Given the description of an element on the screen output the (x, y) to click on. 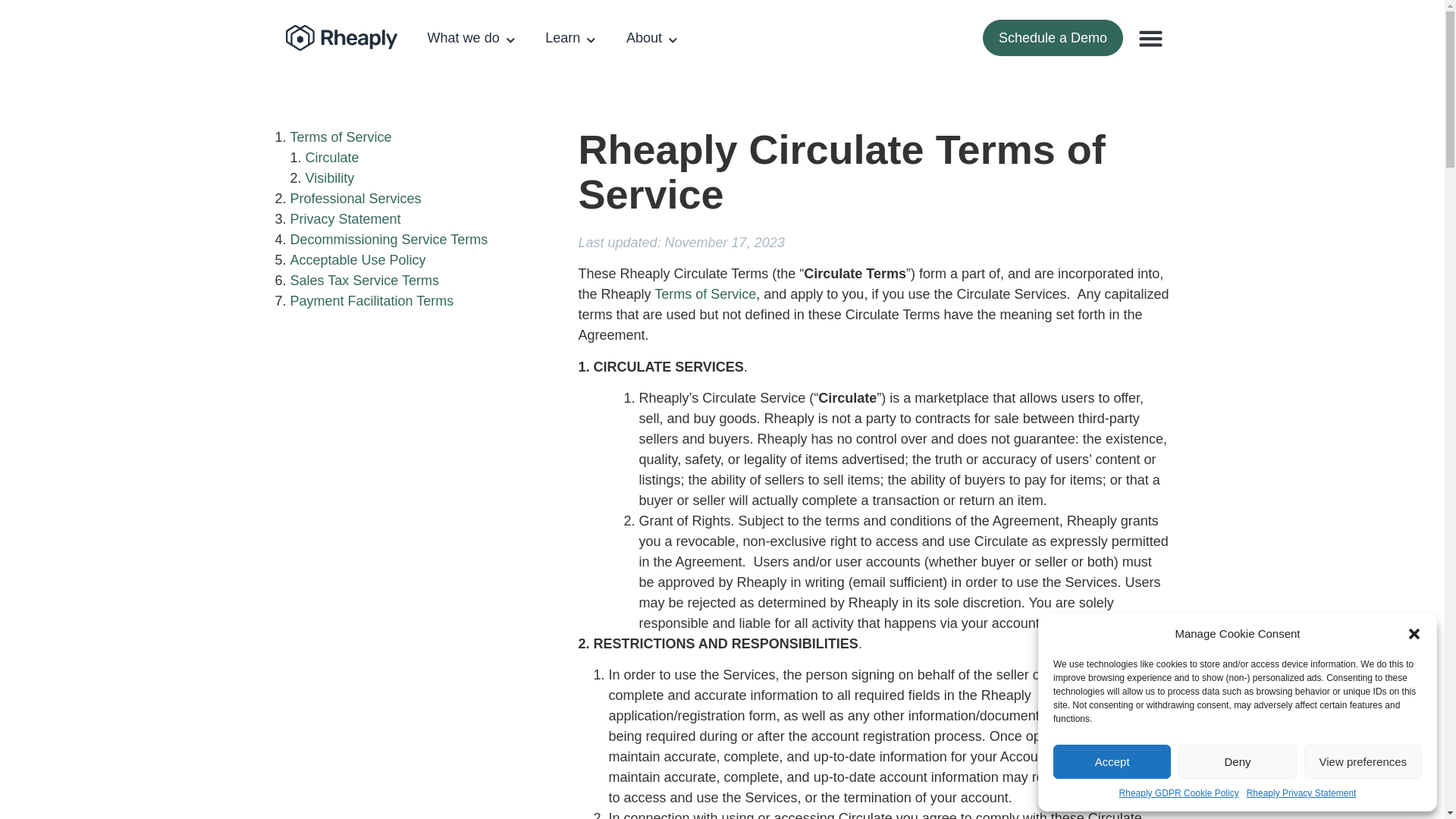
Learn (570, 37)
Rheaply Privacy Statement (1301, 793)
About (652, 37)
Deny (1236, 761)
View preferences (1363, 761)
Accept (1111, 761)
Schedule a Demo (1052, 37)
Rheaply GDPR Cookie Policy (1179, 793)
What we do (471, 37)
